Given the description of an element on the screen output the (x, y) to click on. 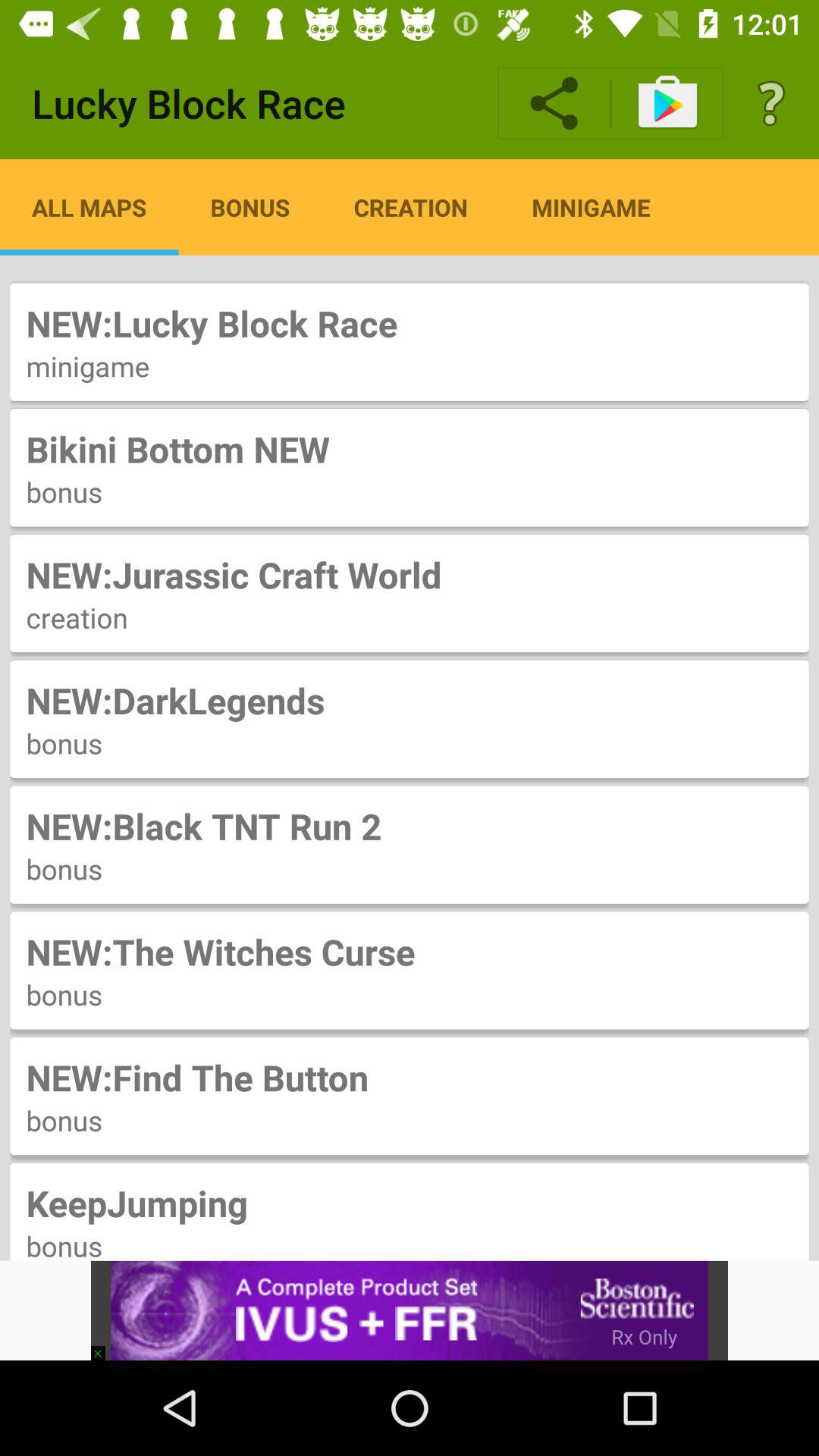
open app to the left of the bonus item (89, 207)
